Given the description of an element on the screen output the (x, y) to click on. 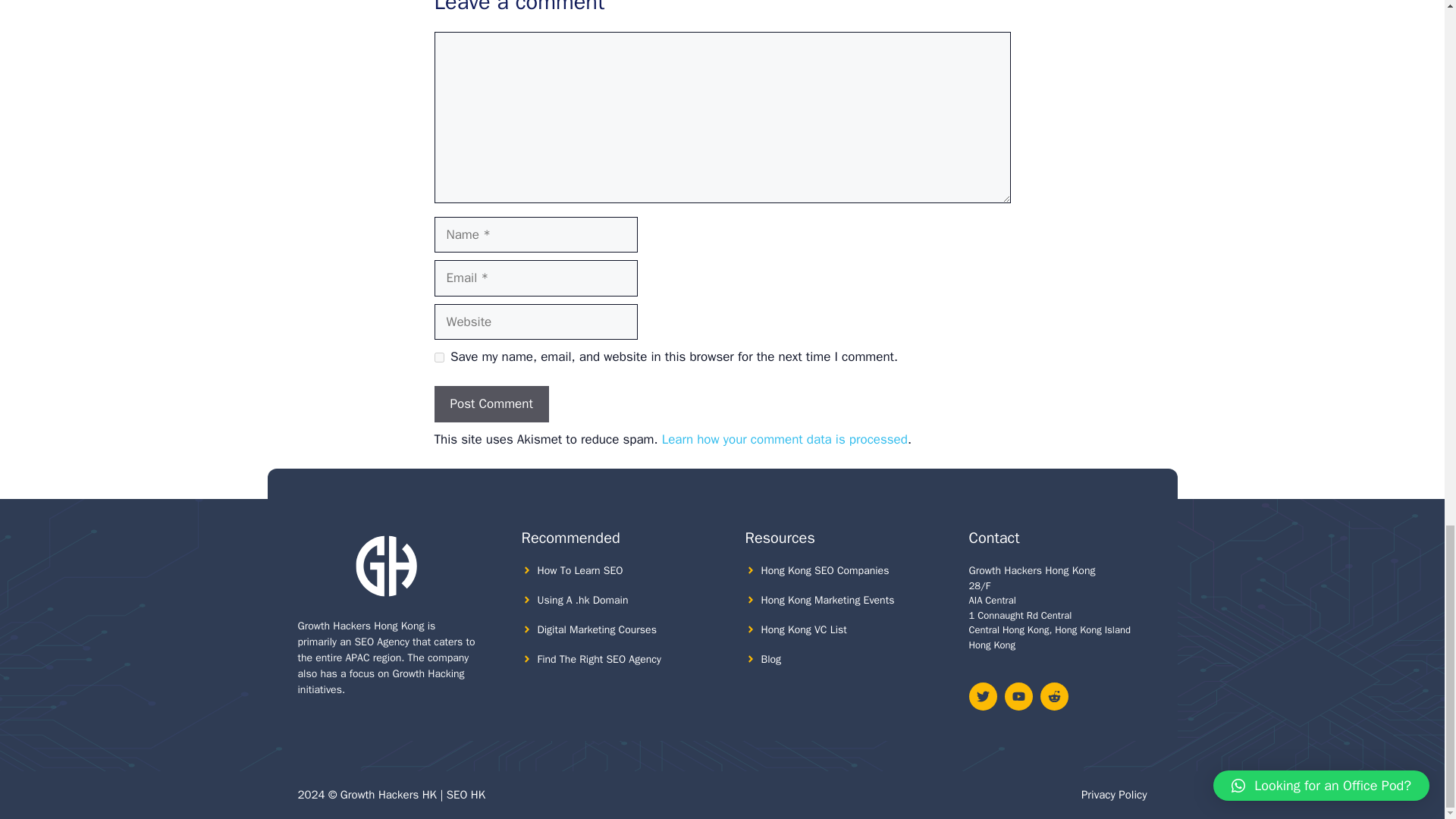
Post Comment (490, 403)
Using A .hk Domain (582, 599)
Post Comment (490, 403)
How To Learn SEO (580, 570)
Learn how your comment data is processed (784, 439)
Hong Kong Marketing Events (828, 599)
yes (438, 357)
Blog (771, 658)
Privacy Policy (1114, 794)
Find The Right SEO Agency (599, 658)
